Given the description of an element on the screen output the (x, y) to click on. 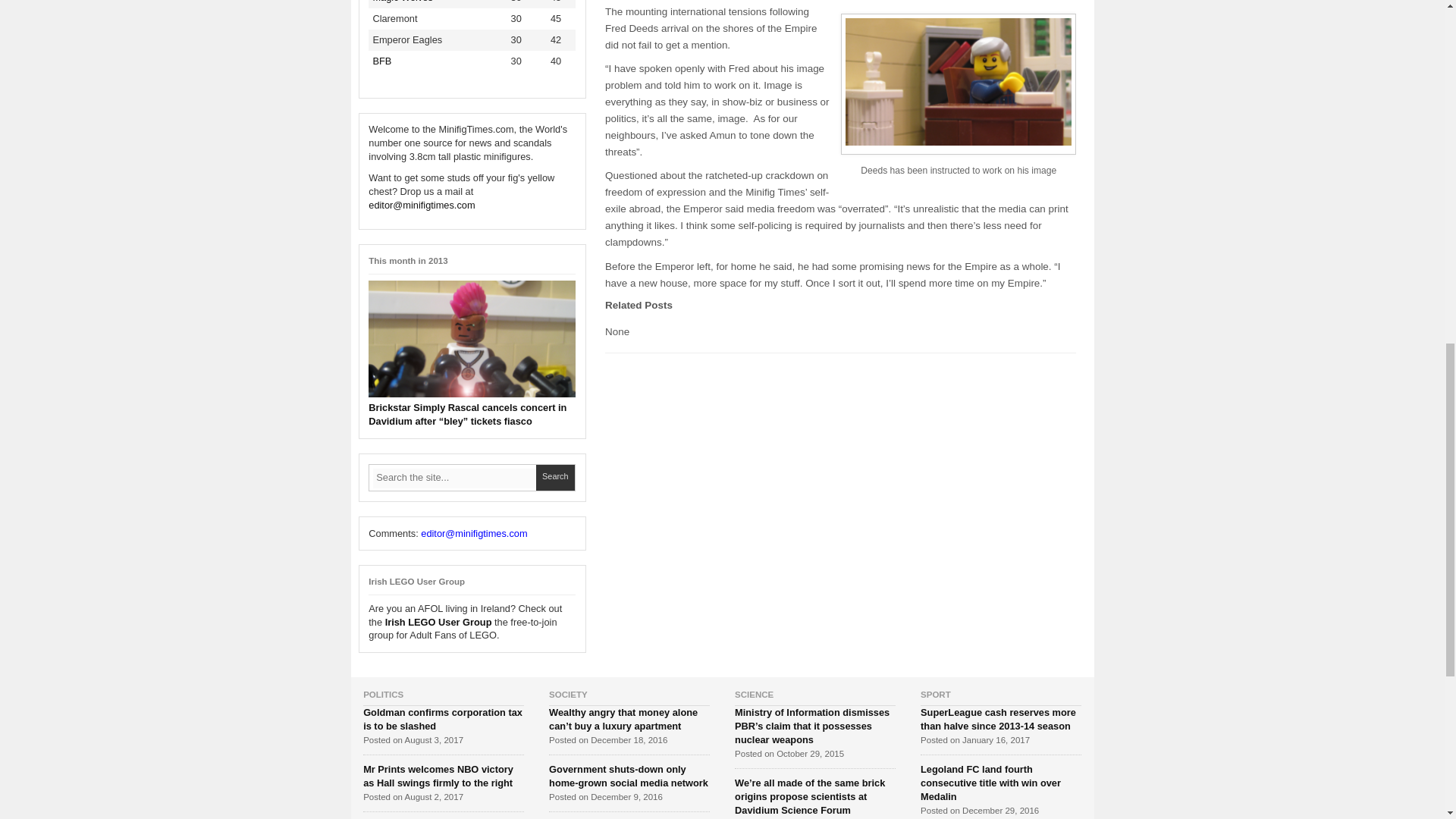
Search (555, 478)
